Given the description of an element on the screen output the (x, y) to click on. 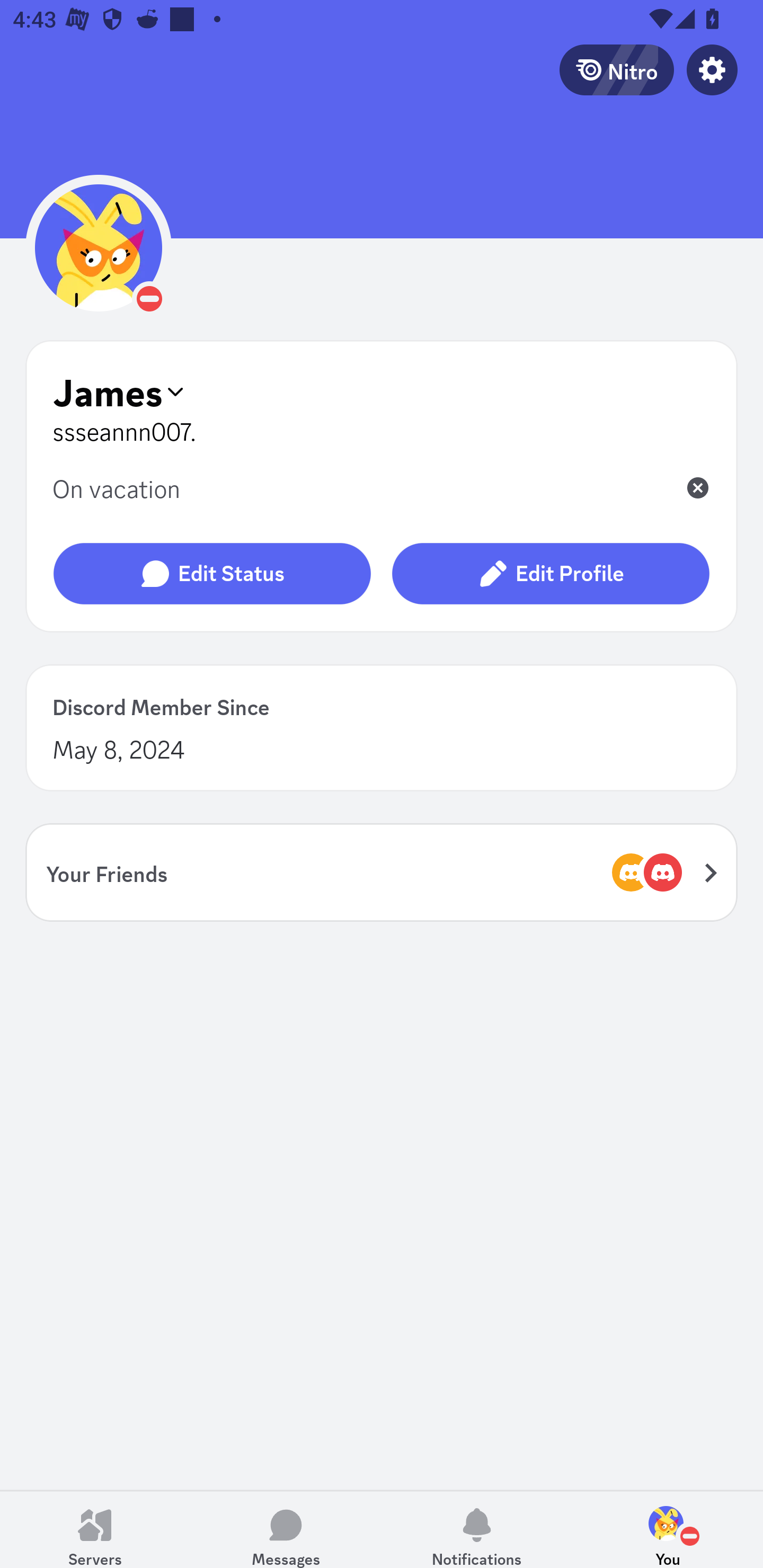
Nitro (616, 69)
Settings (711, 69)
James (381, 390)
On vacation (359, 487)
Clear Status (697, 489)
Edit Status (212, 573)
Edit Profile (550, 573)
Your Friends (381, 872)
Servers (95, 1529)
Messages (285, 1529)
Notifications (476, 1529)
You (667, 1529)
